Given the description of an element on the screen output the (x, y) to click on. 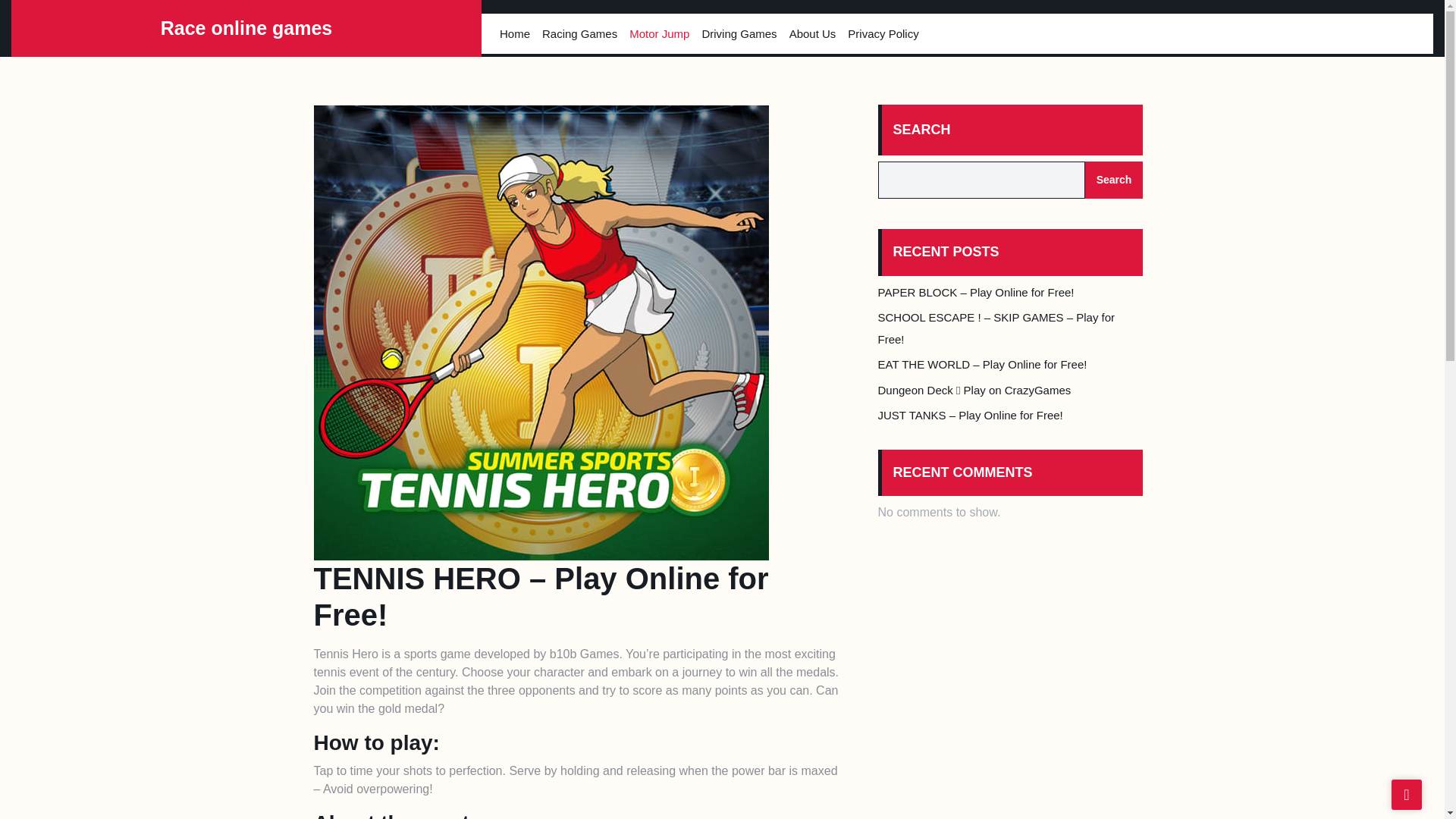
Search (1113, 180)
Race online games (245, 27)
About Us (813, 33)
Home (514, 33)
Privacy Policy (882, 33)
Driving Games (739, 33)
Race online games (245, 27)
Motor Jump (659, 33)
Racing Games (579, 33)
